Given the description of an element on the screen output the (x, y) to click on. 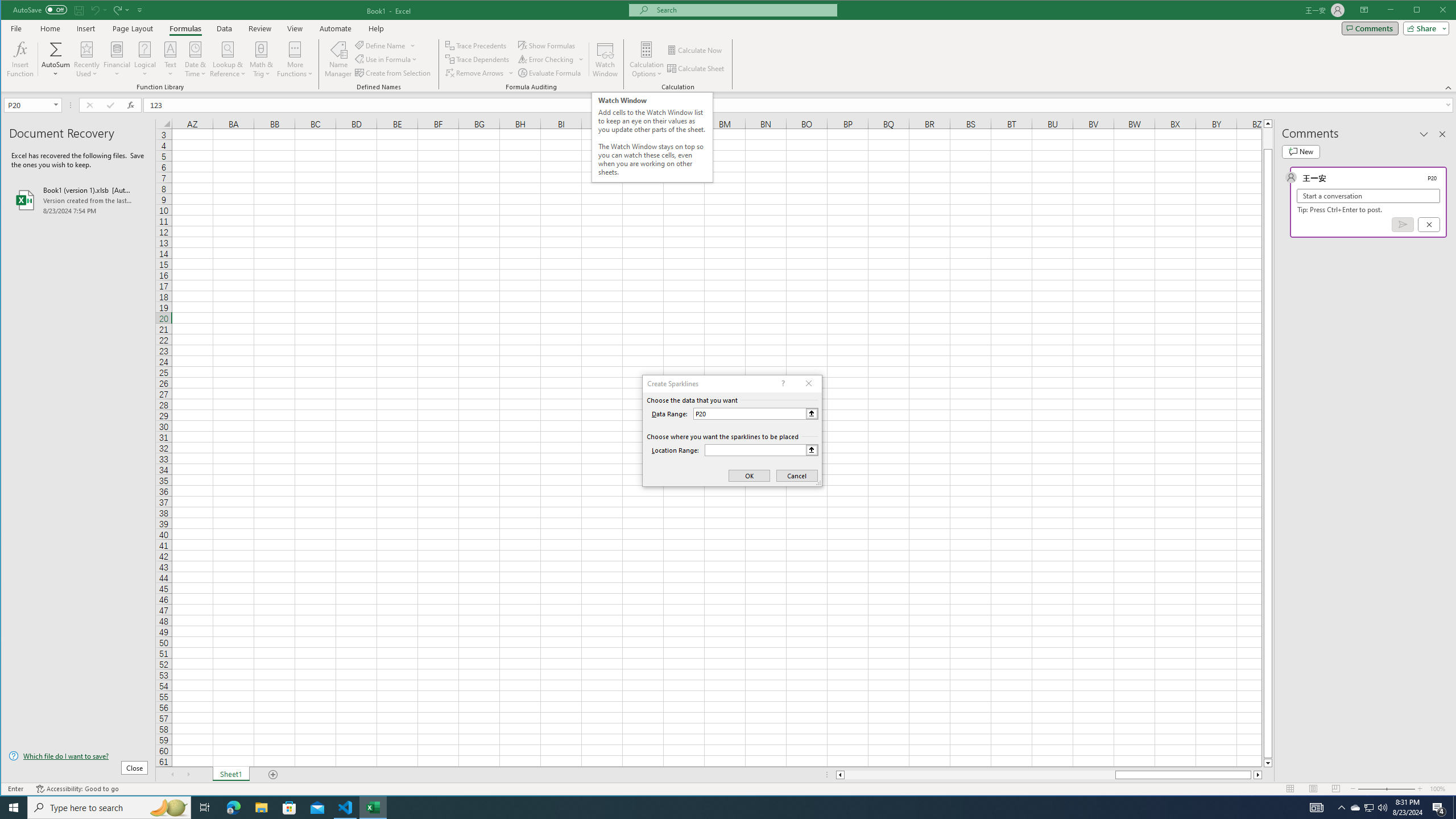
Calculate Sheet (696, 68)
